Given the description of an element on the screen output the (x, y) to click on. 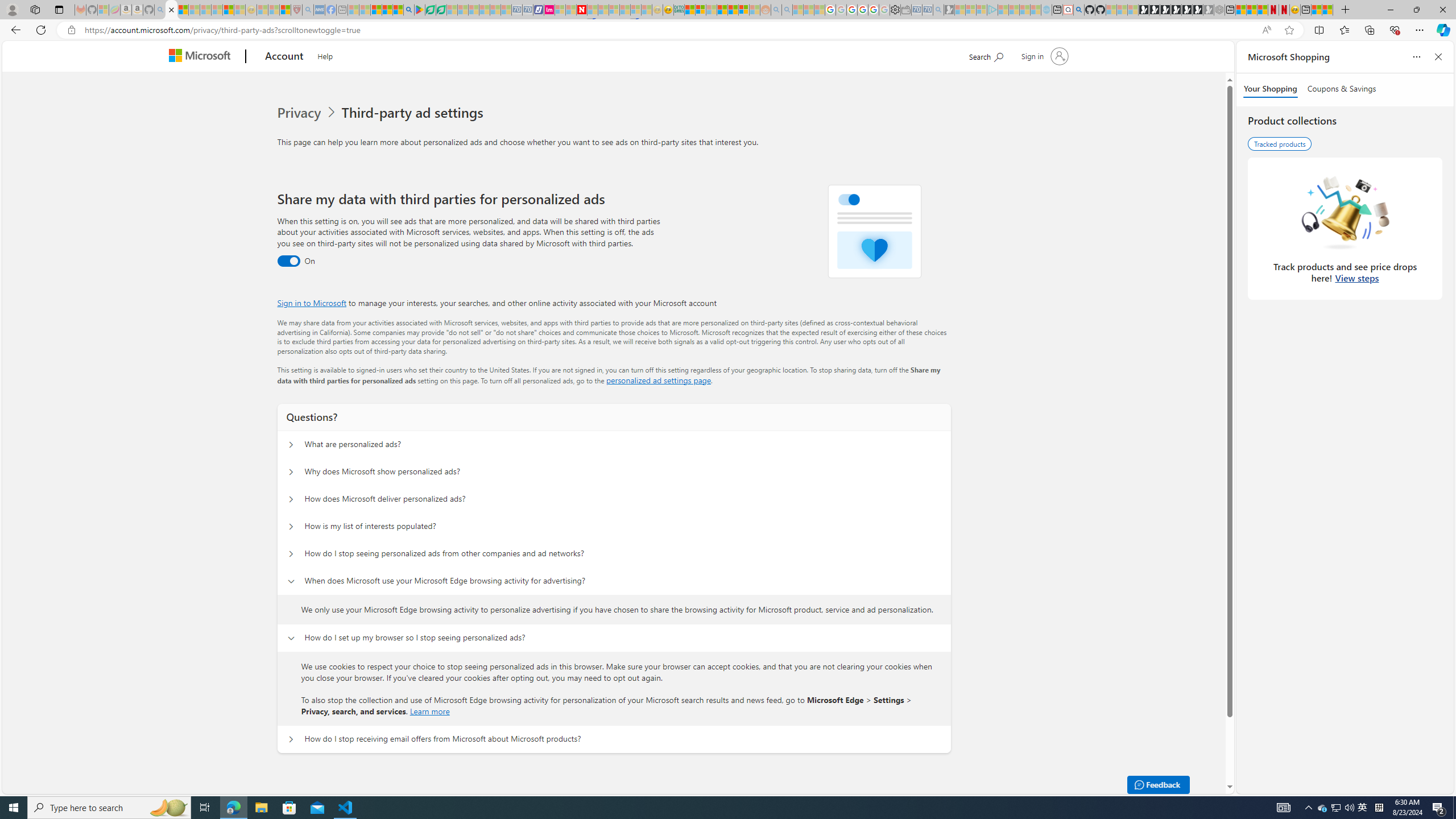
Recipes - MSN - Sleeping (262, 9)
Bluey: Let's Play! - Apps on Google Play (419, 9)
MSNBC - MSN - Sleeping (353, 9)
